Given the description of an element on the screen output the (x, y) to click on. 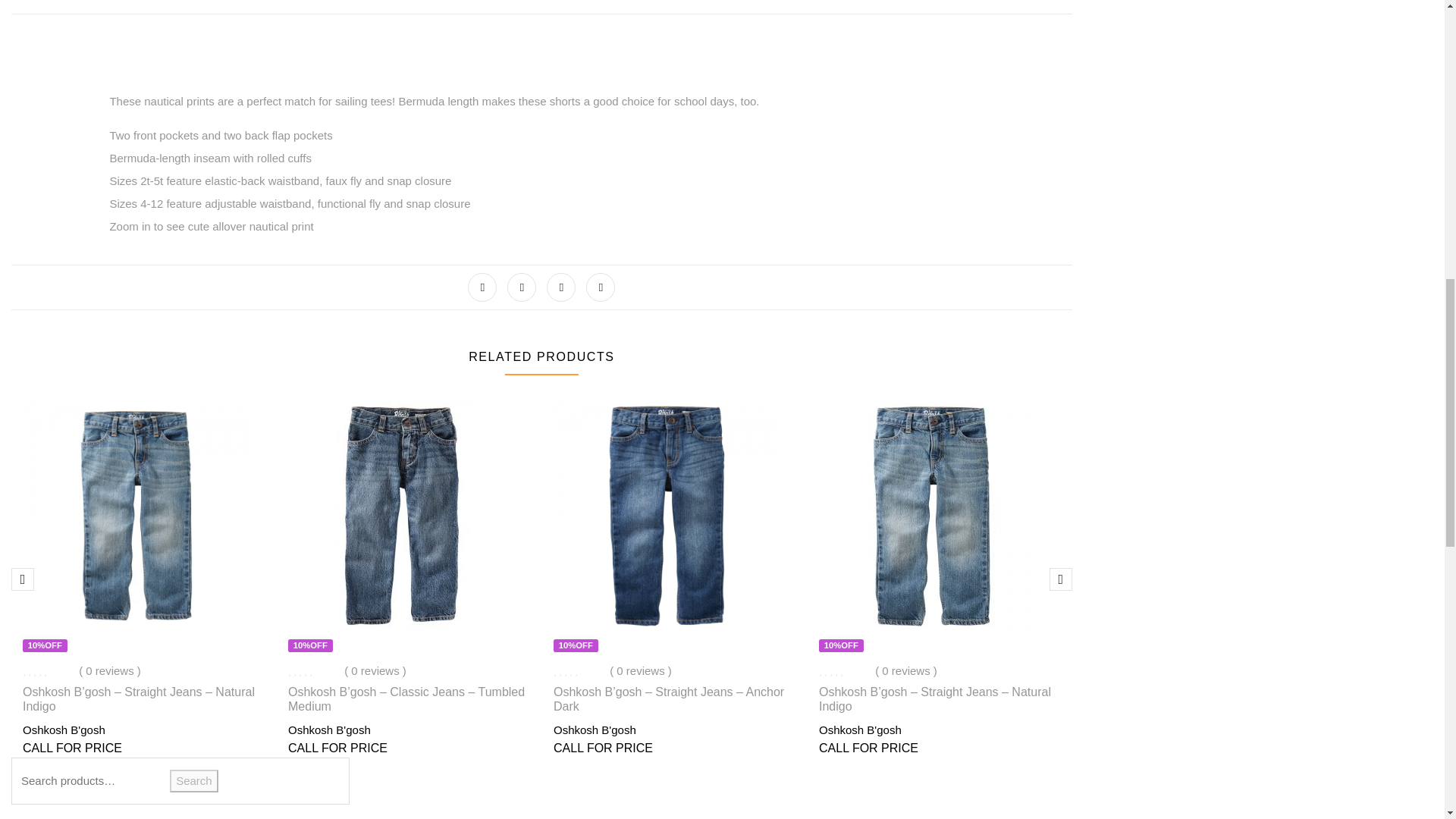
Twitter (520, 287)
LinkedIn (561, 287)
Facebook (481, 287)
Pinterest (600, 287)
